Given the description of an element on the screen output the (x, y) to click on. 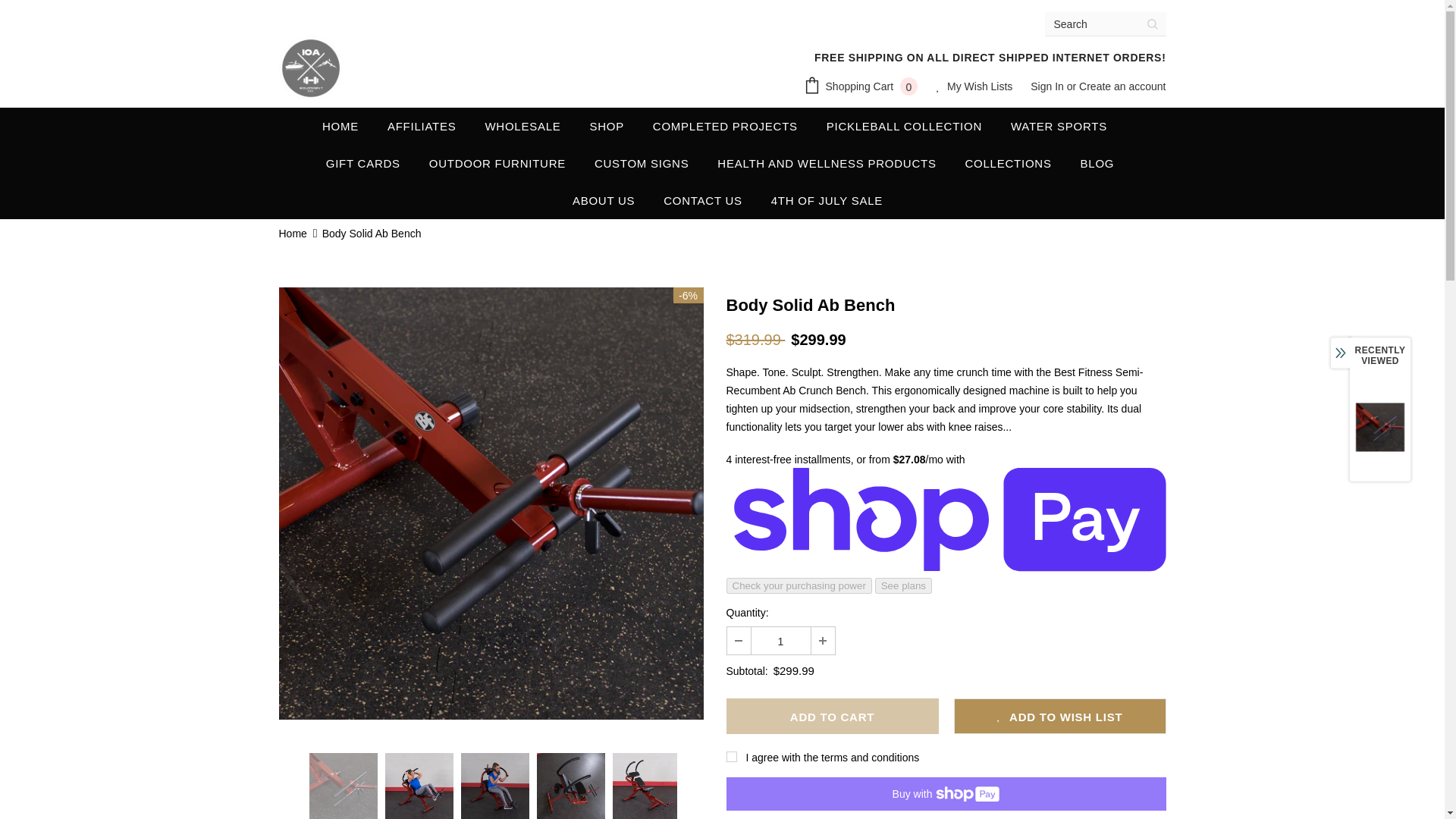
Logo (310, 67)
WATER SPORTS (1058, 125)
My Wish Lists (974, 87)
AFFILIATES (422, 125)
Shopping Cart 0 (863, 87)
Create an account (1122, 86)
1 (780, 640)
CUSTOM SIGNS (641, 162)
PICKLEBALL COLLECTION (904, 125)
My Wish Lists (974, 87)
OUTDOOR FURNITURE (497, 162)
Sign In (1047, 86)
WHOLESALE (522, 125)
HOME (339, 125)
GIFT CARDS (363, 162)
